Given the description of an element on the screen output the (x, y) to click on. 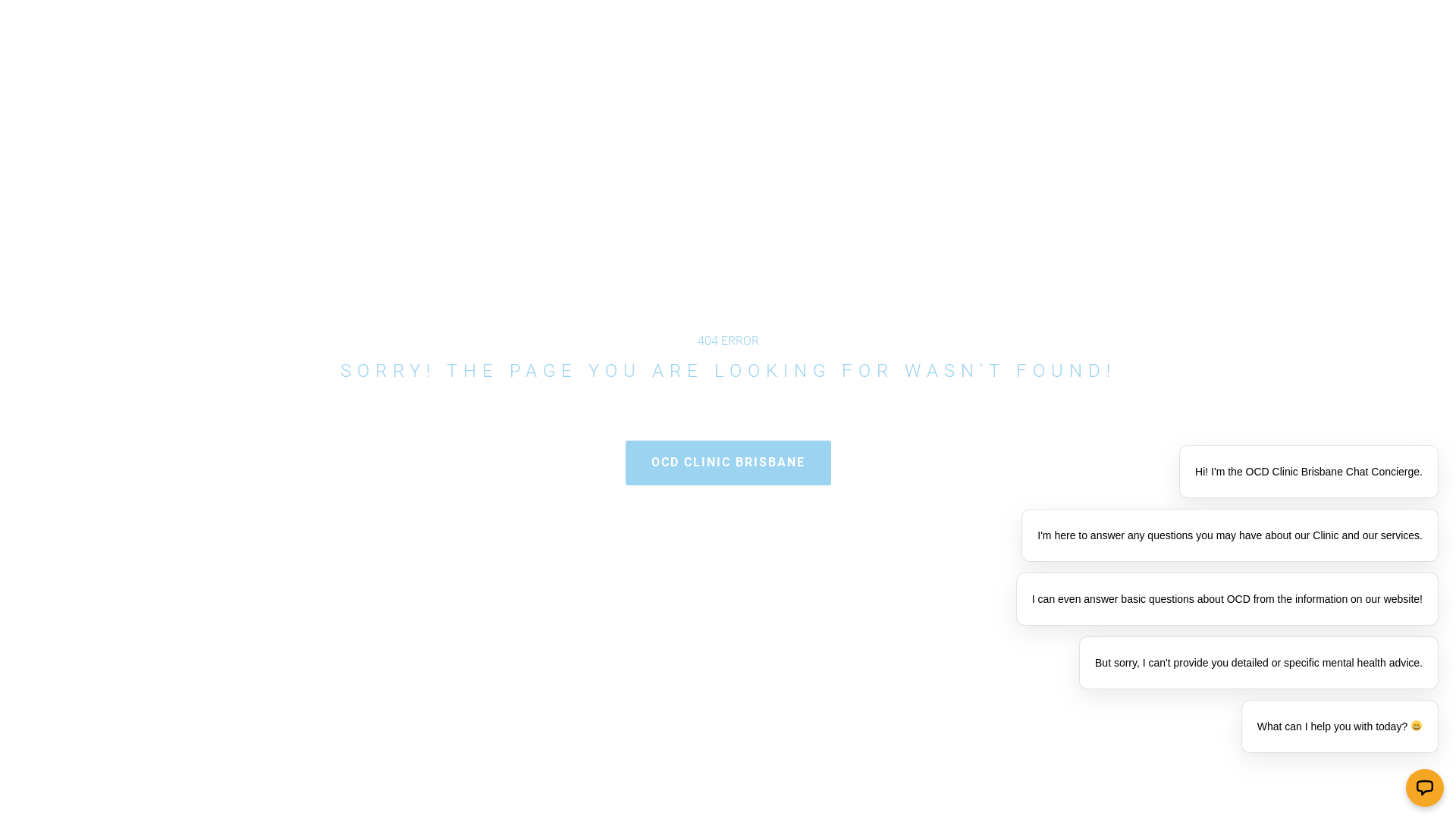
OCD CLINIC BRISBANE Element type: text (727, 462)
